Given the description of an element on the screen output the (x, y) to click on. 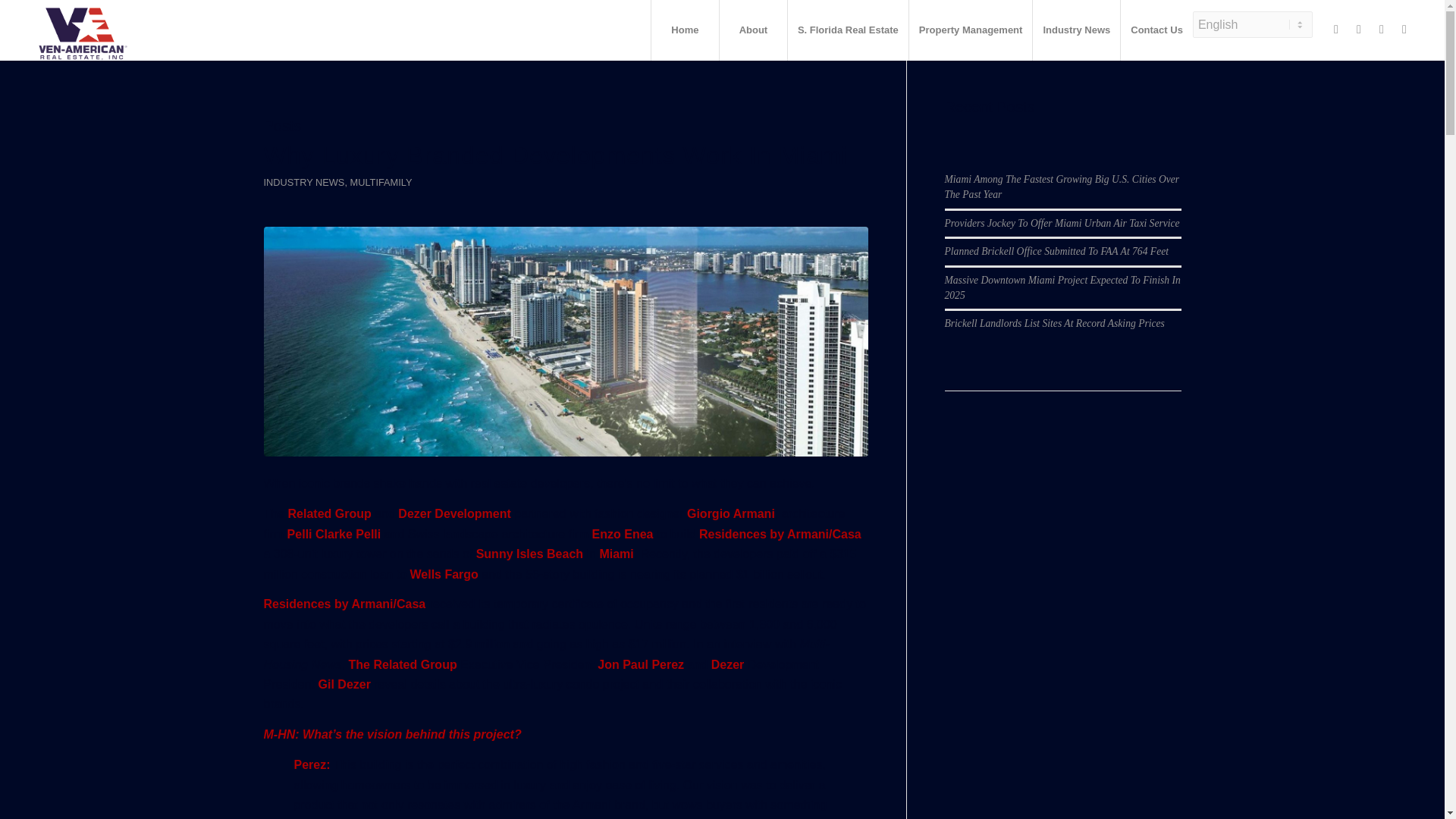
Property Management (970, 30)
MULTIFAMILY (381, 182)
INDUSTRY NEWS (304, 182)
About (753, 30)
Brickell Landlords List Sites At Record Asking Prices (1054, 279)
Massive Downtown Miami Project Expected To Finish In 2025 (1062, 243)
S. Florida Real Estate (847, 30)
Industry News (1075, 30)
Facebook (1336, 29)
Contact Us (1155, 30)
LinkedIn (1381, 29)
Providers Jockey To Offer Miami Urban Air Taxi Service (1061, 179)
Planned Brickell Office Submitted To FAA At 764 Feet (1056, 206)
Home (684, 30)
